Given the description of an element on the screen output the (x, y) to click on. 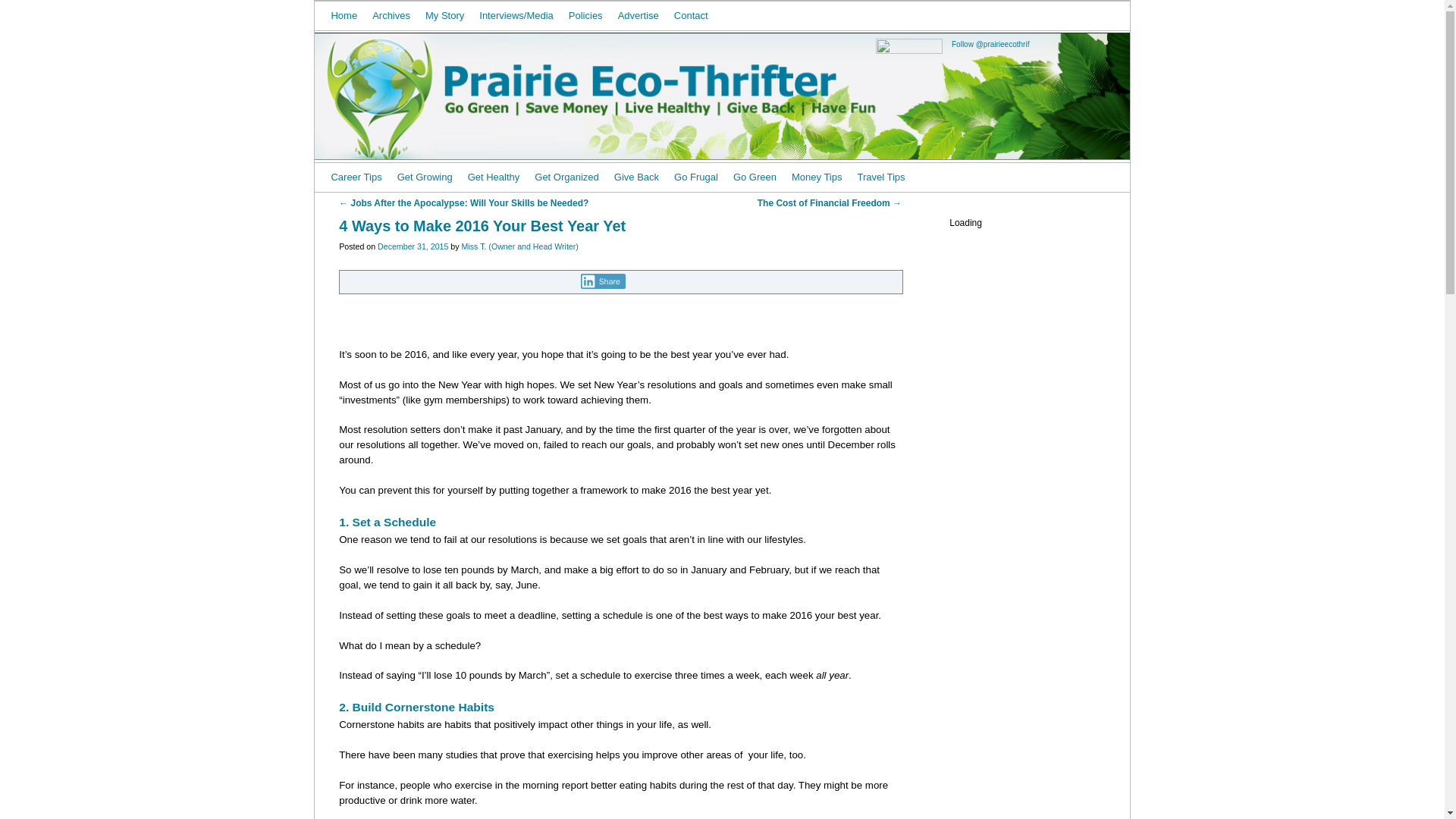
Skip to primary content (352, 167)
Share (603, 281)
Tips on living frugal, having fun, and frugal travel. (695, 176)
Policies (585, 15)
Google (906, 15)
Advertise (638, 15)
Tips on how to contribute the greater good. (636, 176)
Archives (391, 15)
Tips related to growing, gardening, and yard care. (425, 176)
Travel Tips (880, 176)
RSS (961, 15)
